Given the description of an element on the screen output the (x, y) to click on. 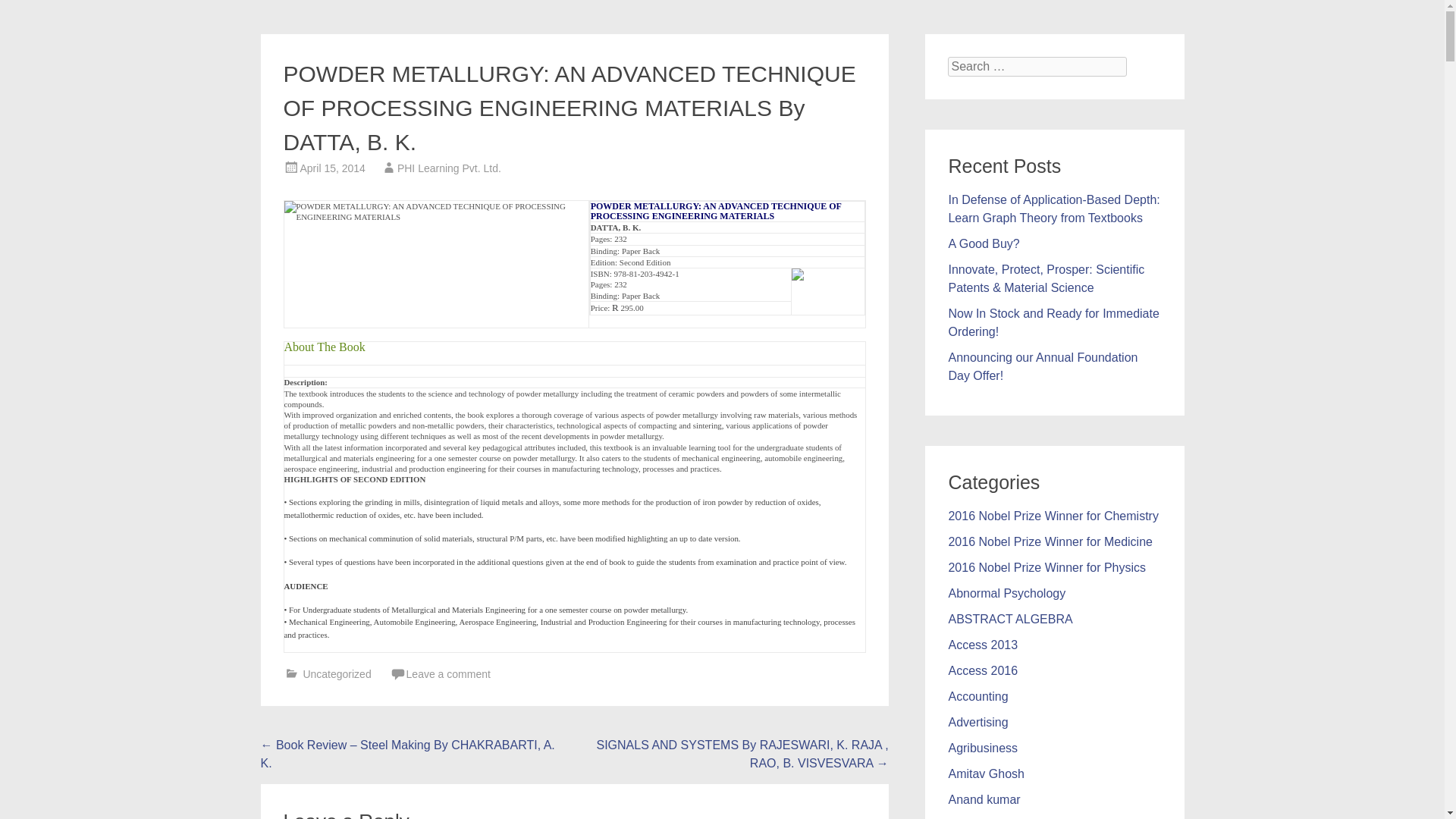
April 15, 2014 (332, 168)
2016 Nobel Prize Winner for Chemistry (1052, 515)
Access 2013 (982, 644)
Anand kumar (983, 799)
Leave a comment (448, 674)
PHI Learning Pvt. Ltd. (448, 168)
ABSTRACT ALGEBRA (1009, 618)
Advertising (977, 721)
2016 Nobel Prize Winner for Physics (1046, 567)
Search (29, 12)
Uncategorized (336, 674)
Access 2016 (982, 670)
Abnormal Psychology (1006, 593)
A Good Buy? (983, 243)
